Given the description of an element on the screen output the (x, y) to click on. 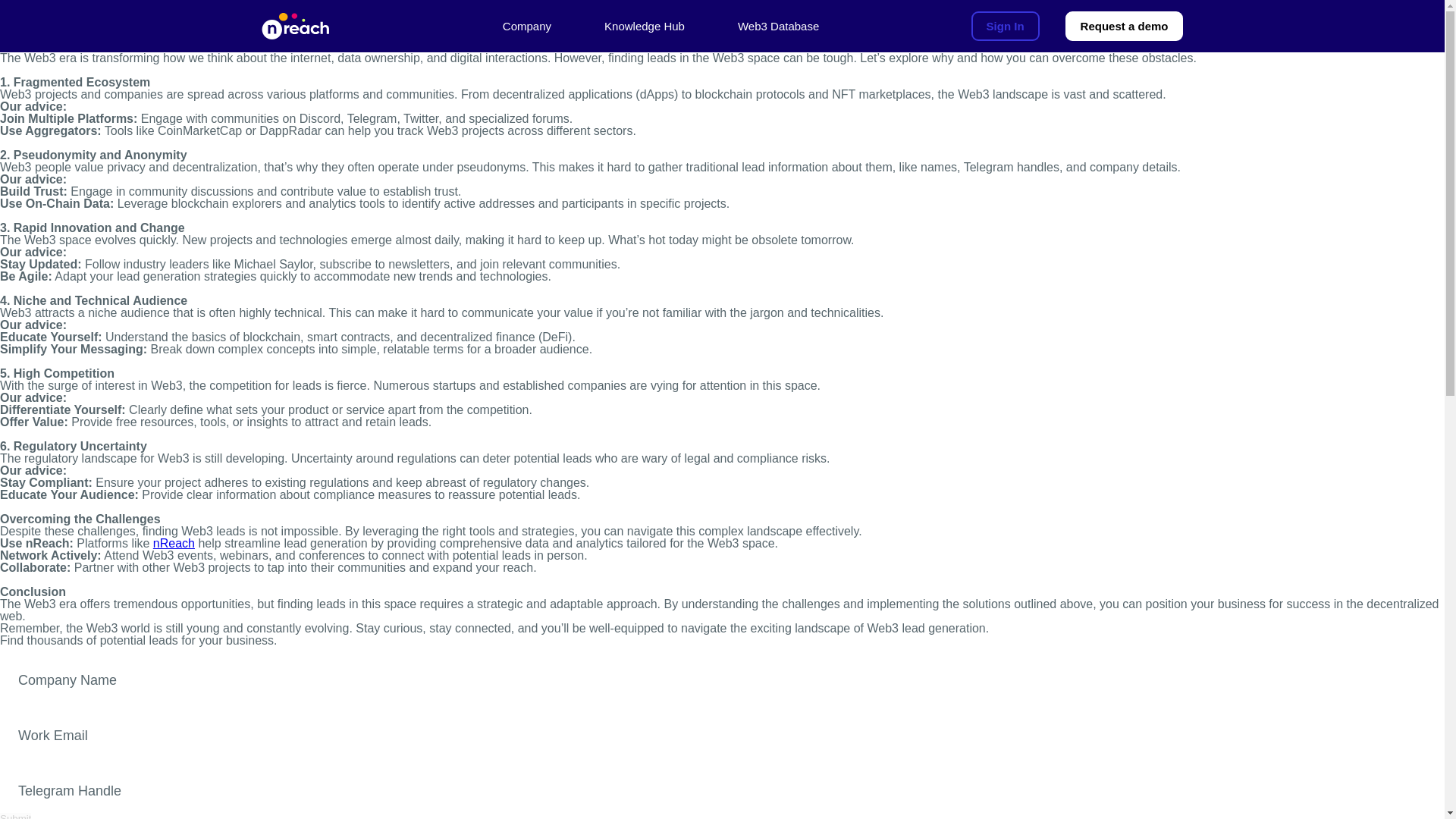
nReach (294, 26)
Knowledge Hub (644, 25)
Submit (15, 816)
Request a demo (1124, 25)
Company (526, 25)
nReach (173, 543)
Sign In (1005, 25)
Submit (15, 816)
Web3 Database (778, 25)
